Given the description of an element on the screen output the (x, y) to click on. 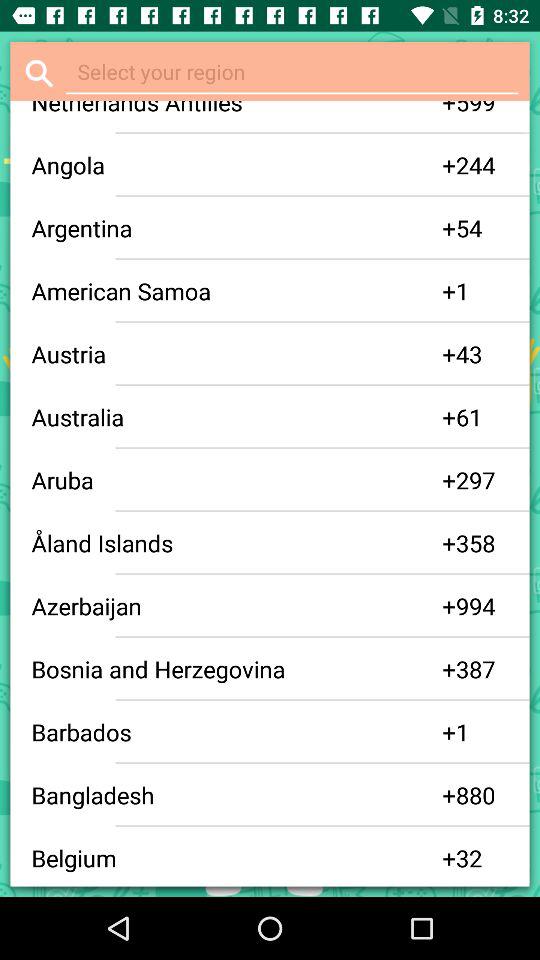
flip until the bangladesh icon (236, 795)
